Given the description of an element on the screen output the (x, y) to click on. 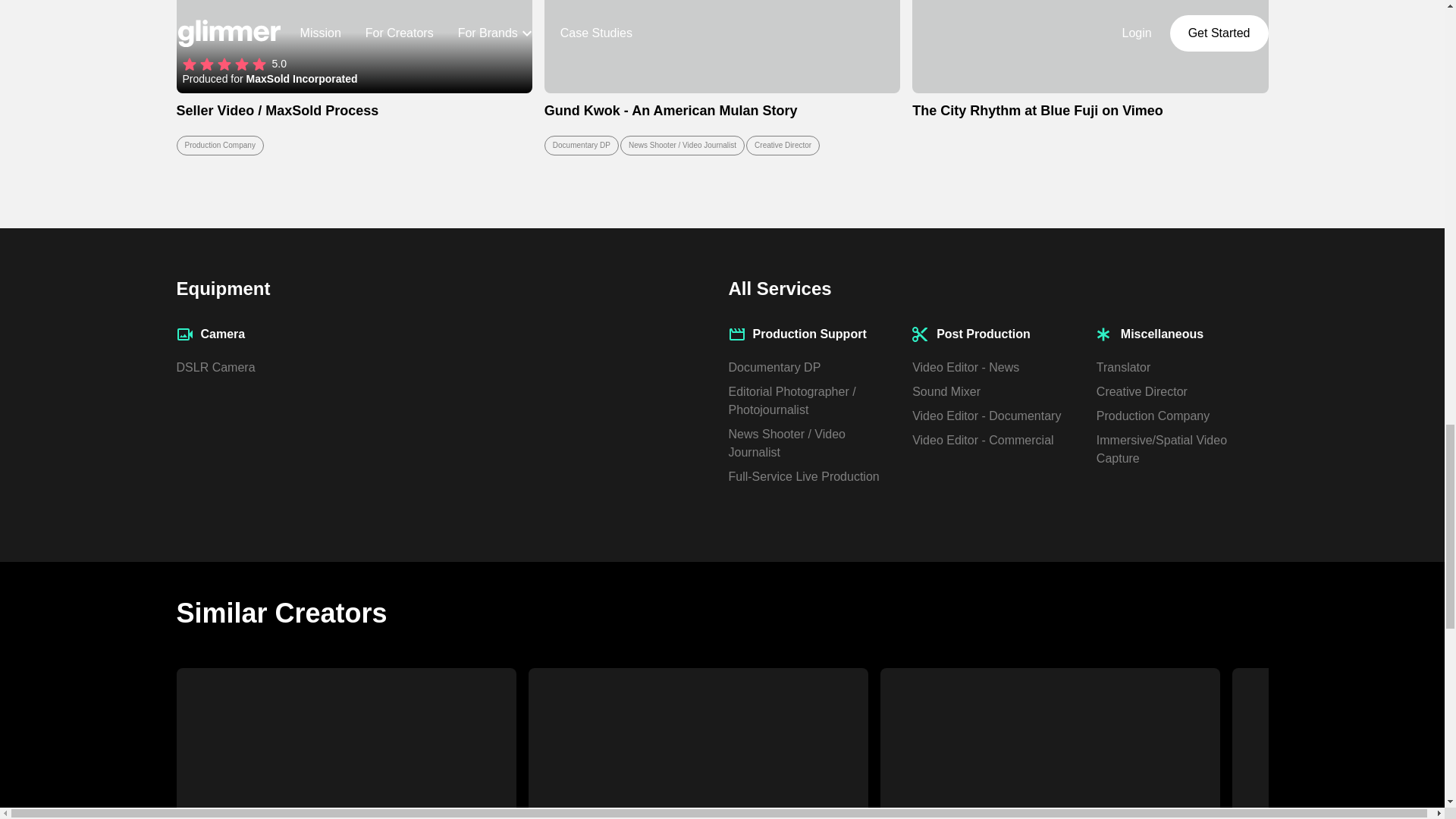
The City Rhythm at Blue Fuji on Vimeo (1090, 77)
